Given the description of an element on the screen output the (x, y) to click on. 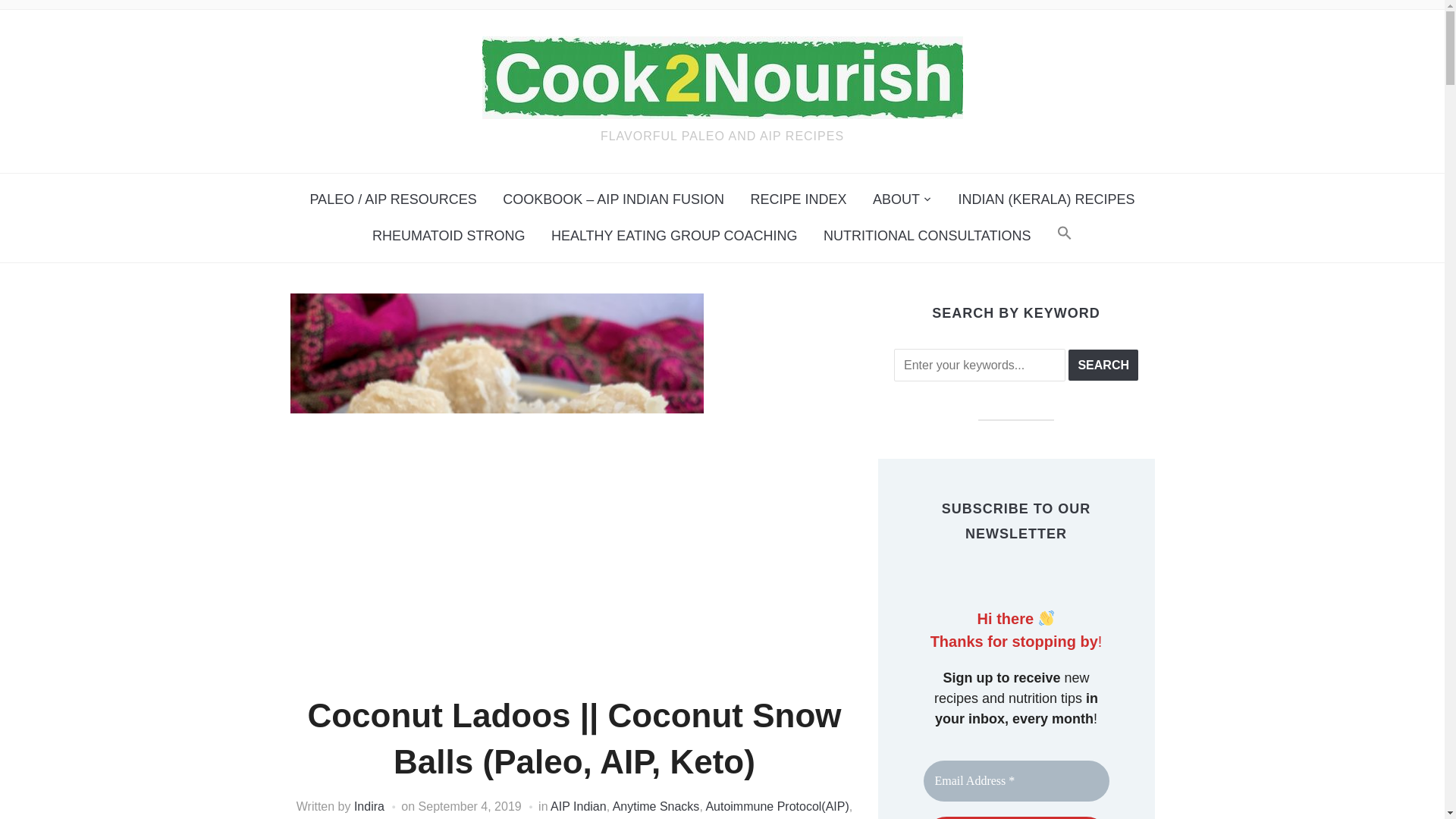
Email Address (1016, 780)
HEALTHY EATING GROUP COACHING (674, 235)
Posts by Indira (368, 806)
SUBMIT (1016, 817)
RHEUMATOID STRONG (448, 235)
ABOUT (902, 199)
RECIPE INDEX (799, 199)
Search (1103, 365)
Search (1103, 365)
NUTRITIONAL CONSULTATIONS (927, 235)
